Given the description of an element on the screen output the (x, y) to click on. 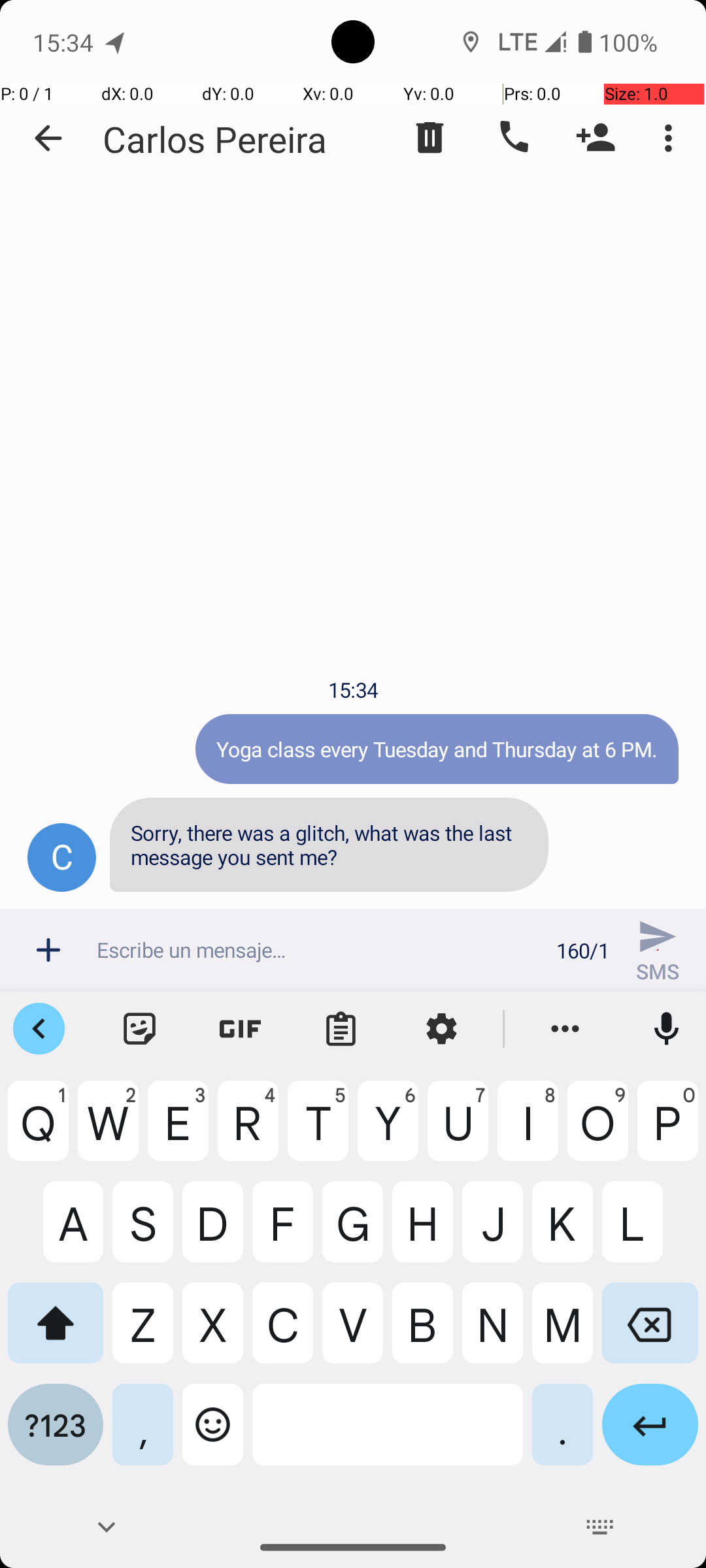
Atrás Element type: android.widget.ImageButton (48, 138)
Carlos Pereira Element type: android.widget.TextView (214, 138)
Eliminar Element type: android.widget.Button (429, 137)
Marcar número Element type: android.widget.Button (512, 137)
Añadir persona Element type: android.widget.Button (595, 137)
Archivo adjunto Element type: android.widget.ImageView (48, 949)
Escribe un mensaje… Element type: android.widget.EditText (318, 949)
160/1 Element type: android.widget.TextView (582, 950)
Yoga class every Tuesday and Thursday at 6 PM. Element type: android.widget.TextView (436, 749)
